Given the description of an element on the screen output the (x, y) to click on. 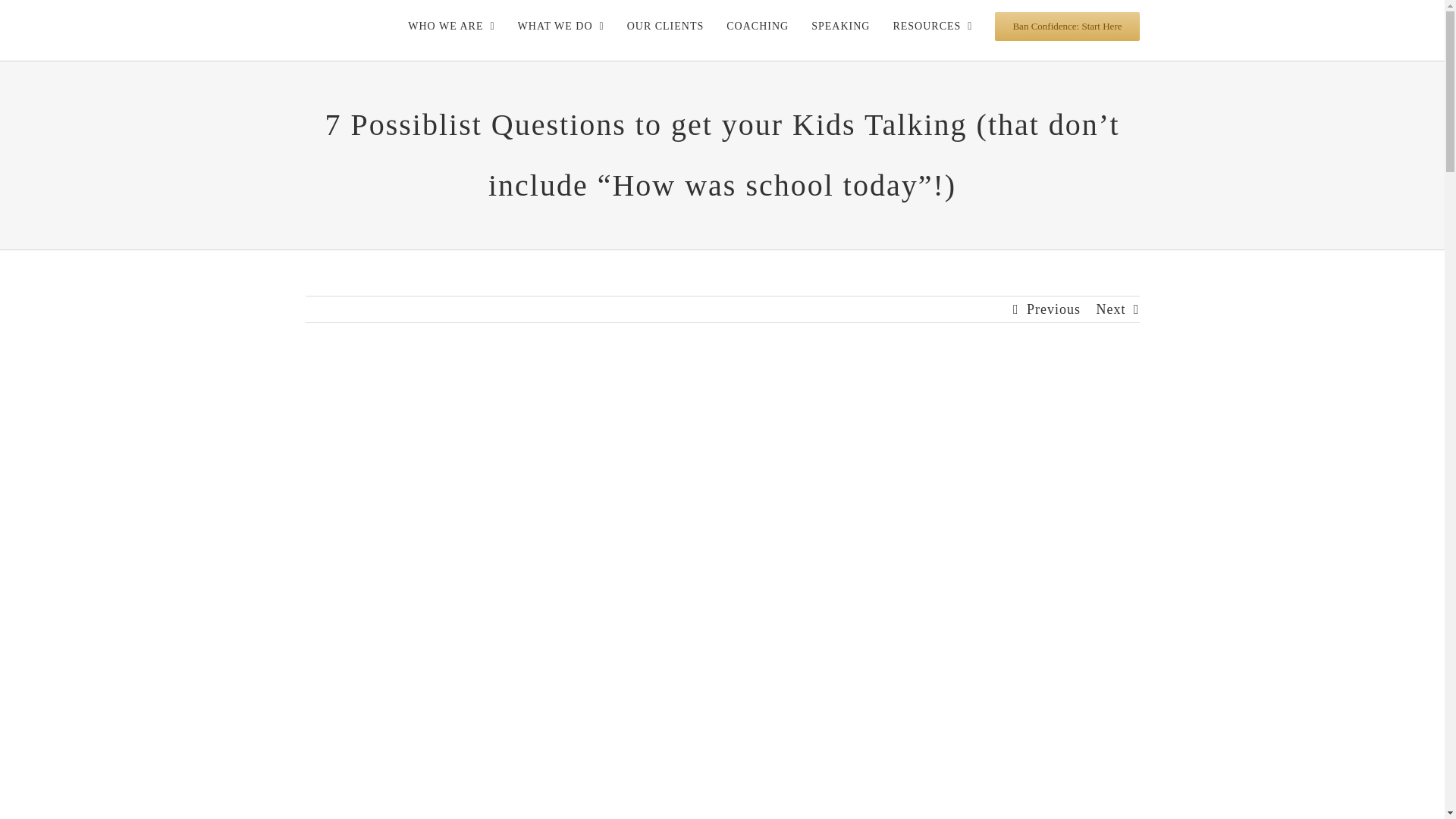
OUR CLIENTS (665, 26)
WHO WE ARE (451, 26)
Next (1110, 309)
RESOURCES (932, 26)
SPEAKING (839, 26)
Previous (1053, 309)
COACHING (757, 26)
WHAT WE DO (561, 26)
Ban Confidence: Start Here (1066, 26)
